Given the description of an element on the screen output the (x, y) to click on. 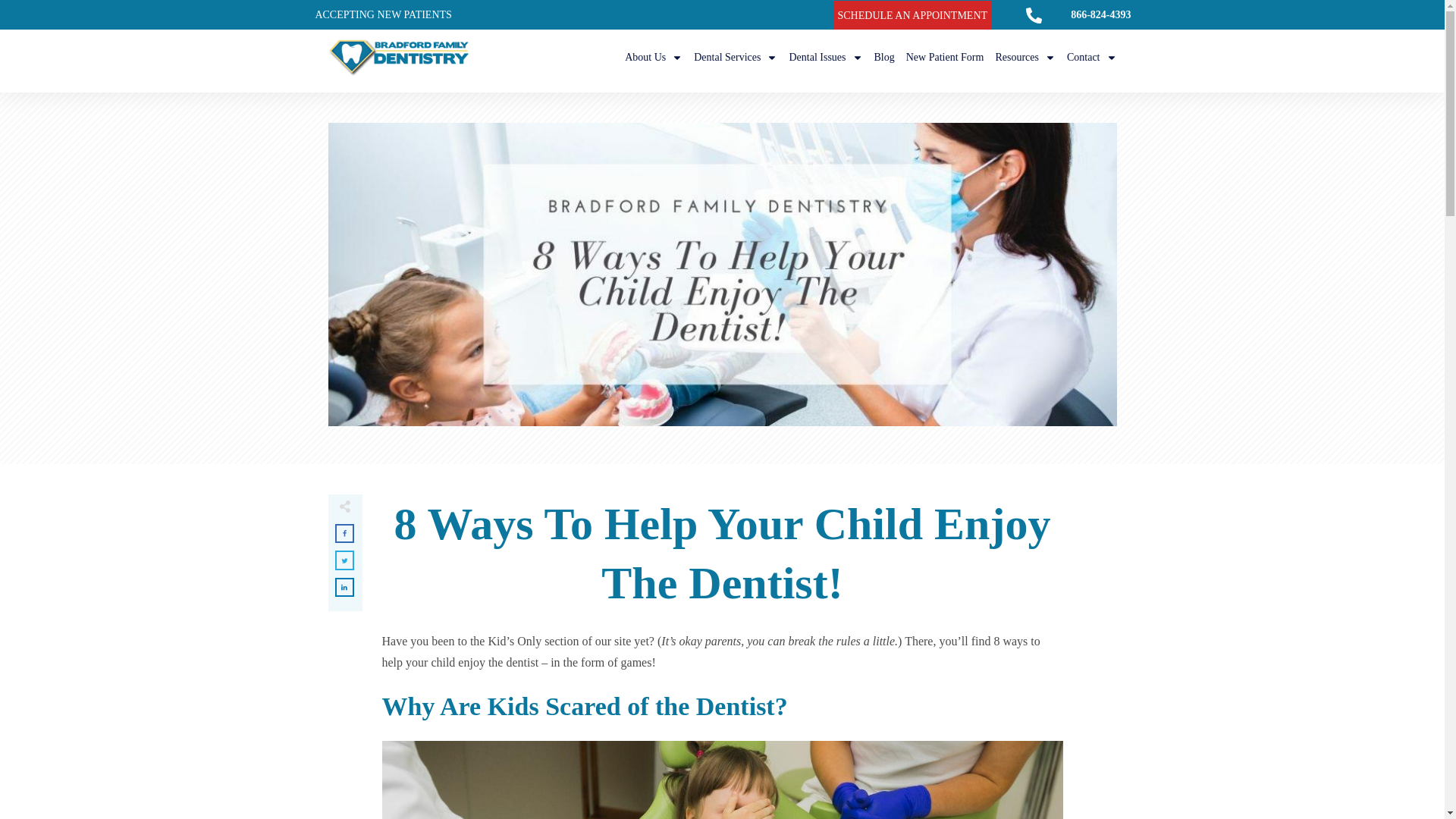
Best Bradford Dental Services (735, 56)
About Us (653, 56)
About Us (653, 56)
Dental Services (735, 56)
